Given the description of an element on the screen output the (x, y) to click on. 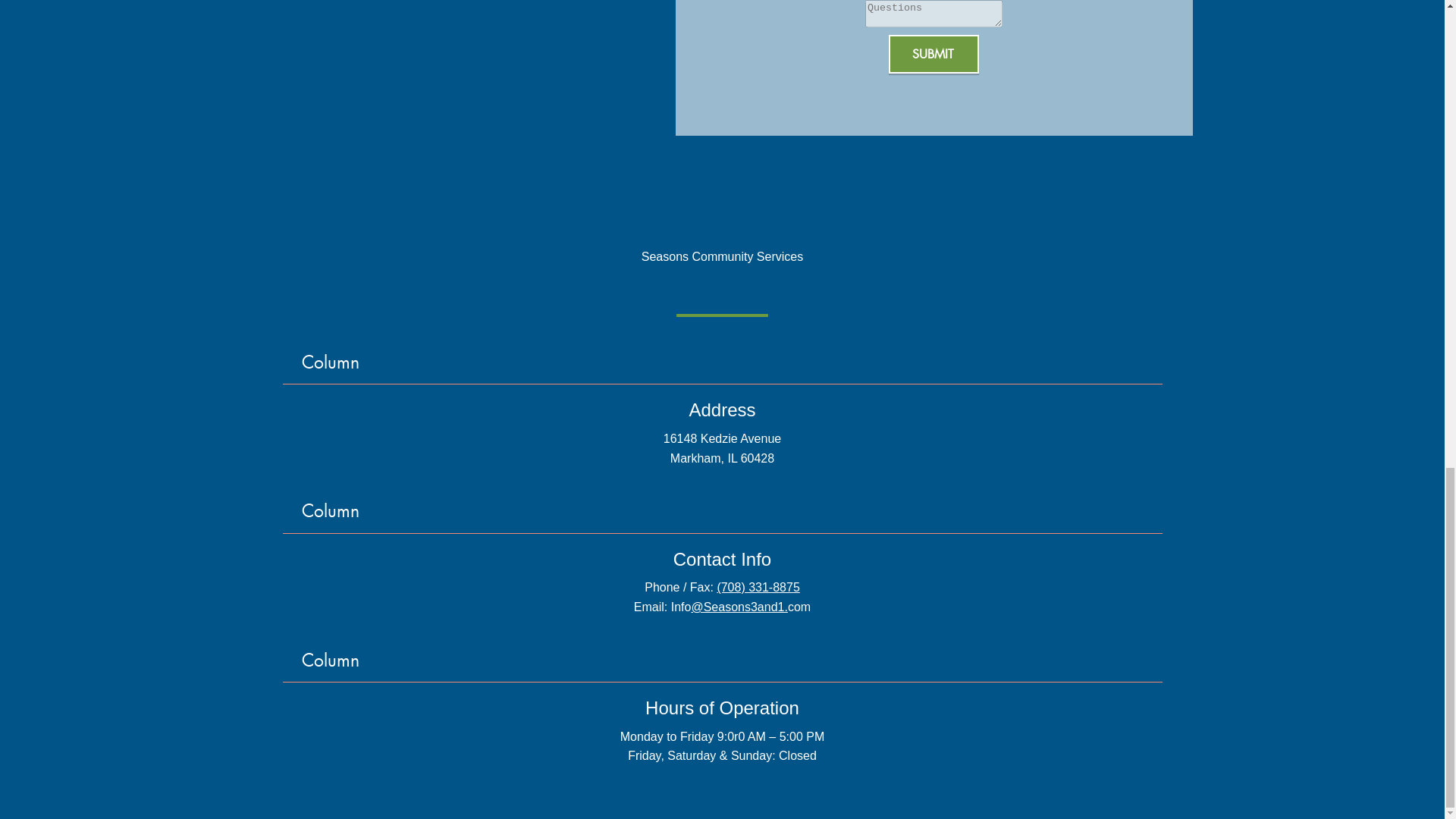
SUBMIT (932, 54)
Column (724, 656)
Column (724, 359)
Column (724, 507)
